Given the description of an element on the screen output the (x, y) to click on. 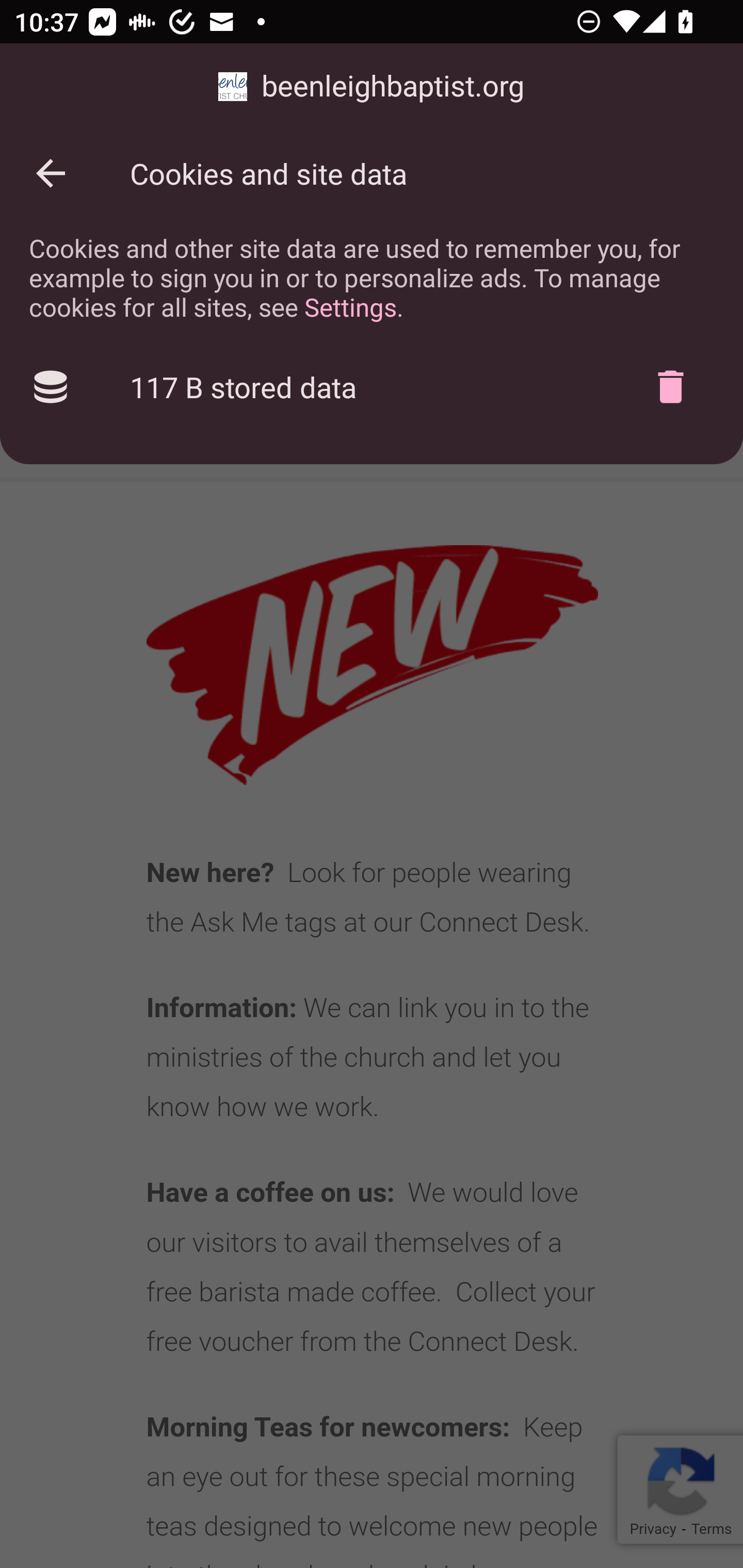
beenleighbaptist.org (371, 86)
Back (50, 173)
117 B stored data Delete cookies? (371, 386)
